Given the description of an element on the screen output the (x, y) to click on. 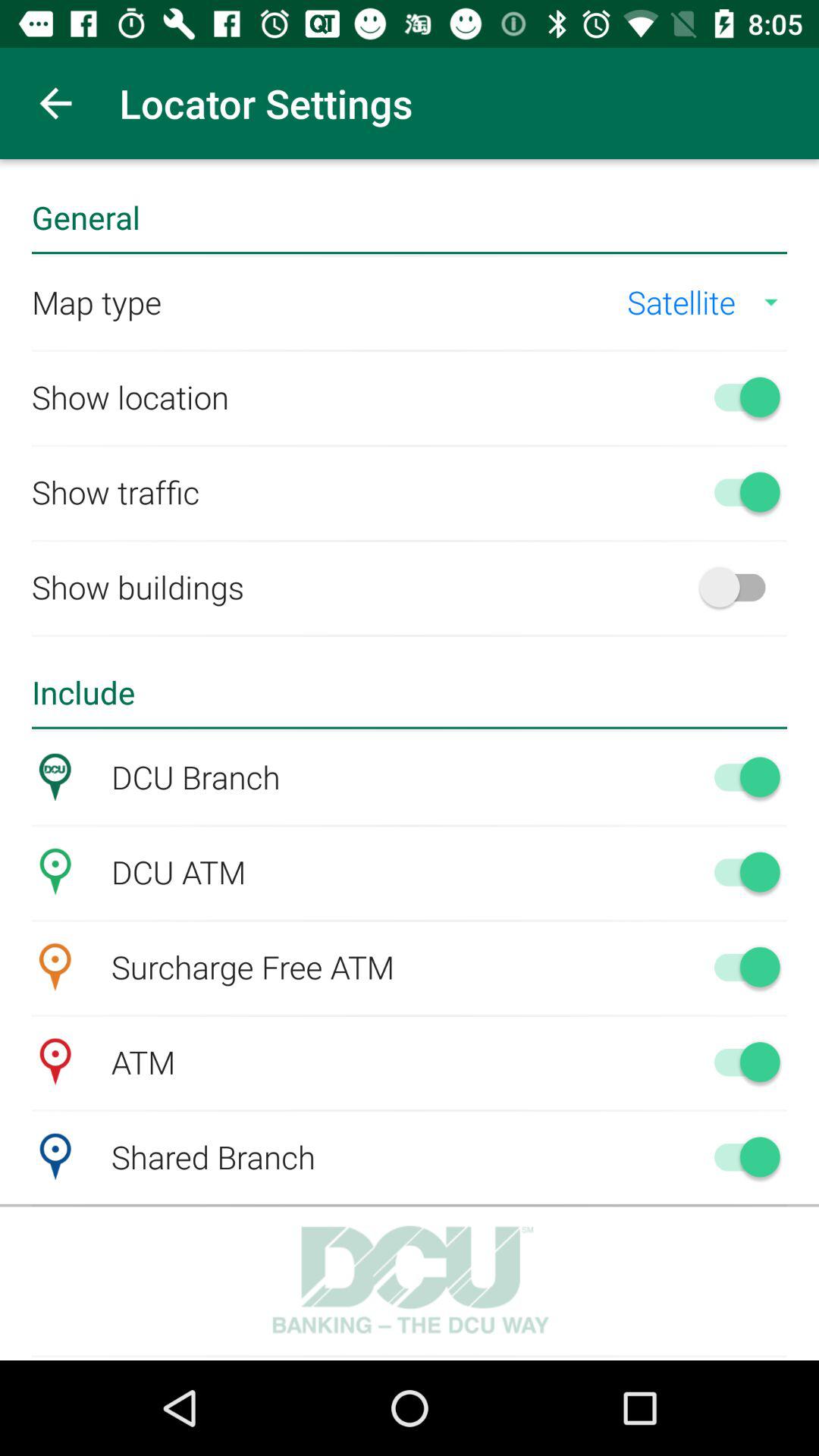
turn on (739, 966)
